Given the description of an element on the screen output the (x, y) to click on. 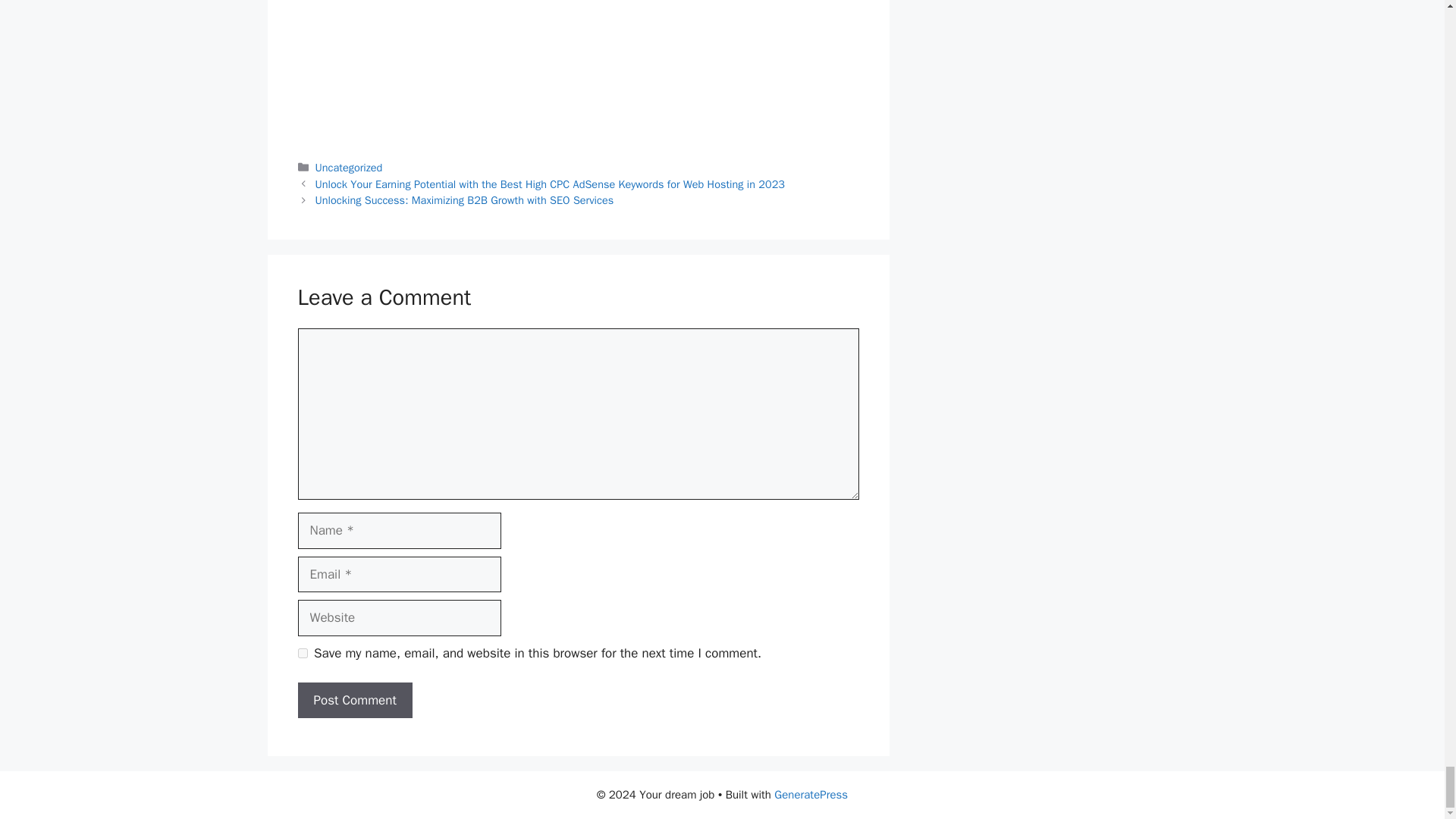
Post Comment (354, 700)
Post Comment (354, 700)
GeneratePress (810, 794)
Unlocking Success: Maximizing B2B Growth with SEO Services (464, 200)
yes (302, 653)
Uncategorized (348, 167)
